Given the description of an element on the screen output the (x, y) to click on. 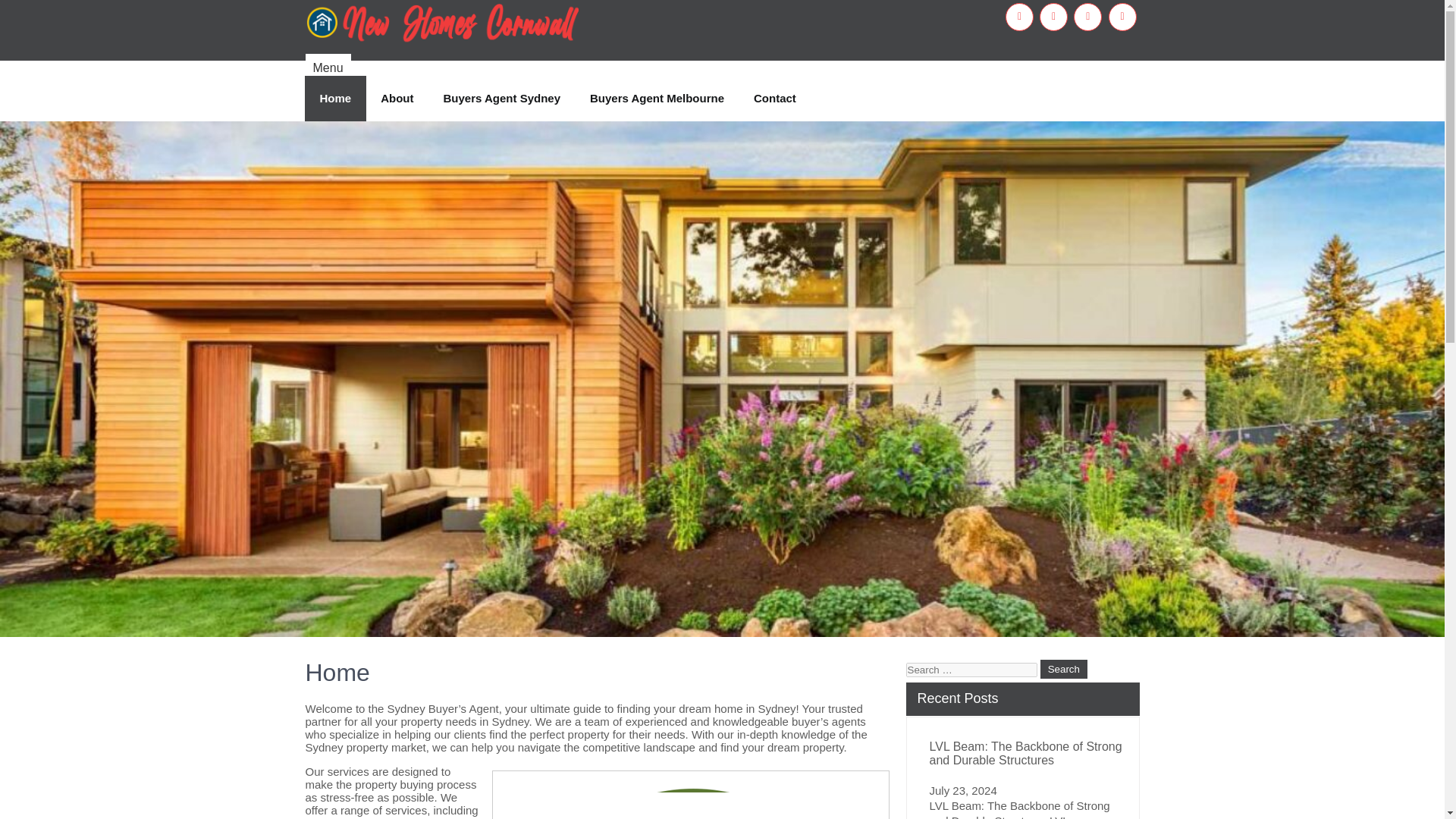
Buyers Agent Melbourne (657, 98)
LVL Beam: The Backbone of Strong and Durable Structures (1027, 753)
linkedin (1122, 17)
Facebook (1019, 17)
Home (335, 98)
Menu (327, 67)
twitter (1053, 17)
Buyers Agent Sydney (502, 98)
googleplus (1088, 17)
Search (1064, 669)
Search (1064, 669)
Contact (774, 98)
Search (1064, 669)
About (396, 98)
